Given the description of an element on the screen output the (x, y) to click on. 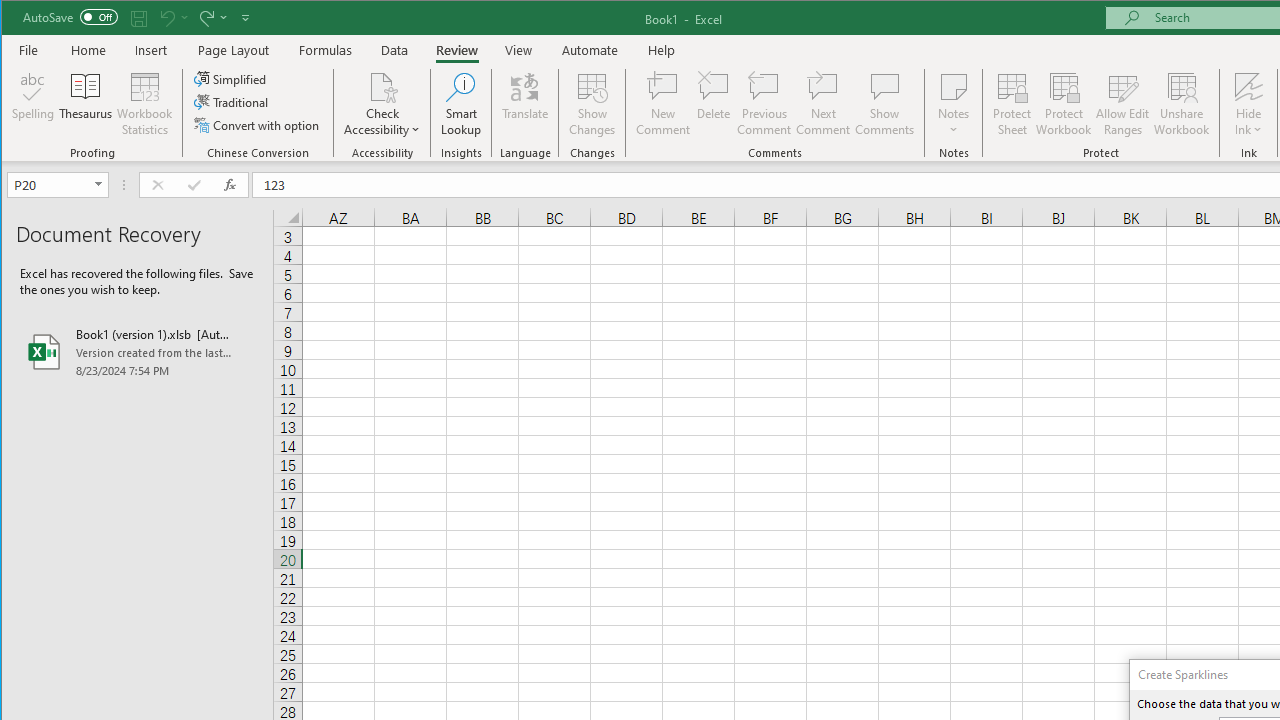
Smart Lookup (461, 104)
Customize Quick Access Toolbar (245, 17)
Translate (525, 104)
Home (88, 50)
Hide Ink (1248, 86)
Previous Comment (763, 104)
Thesaurus... (86, 104)
Show Comments (884, 104)
Book1 (version 1).xlsb  [AutoRecovered] (137, 352)
Data (395, 50)
Protect Workbook... (1064, 104)
Automate (589, 50)
